Given the description of an element on the screen output the (x, y) to click on. 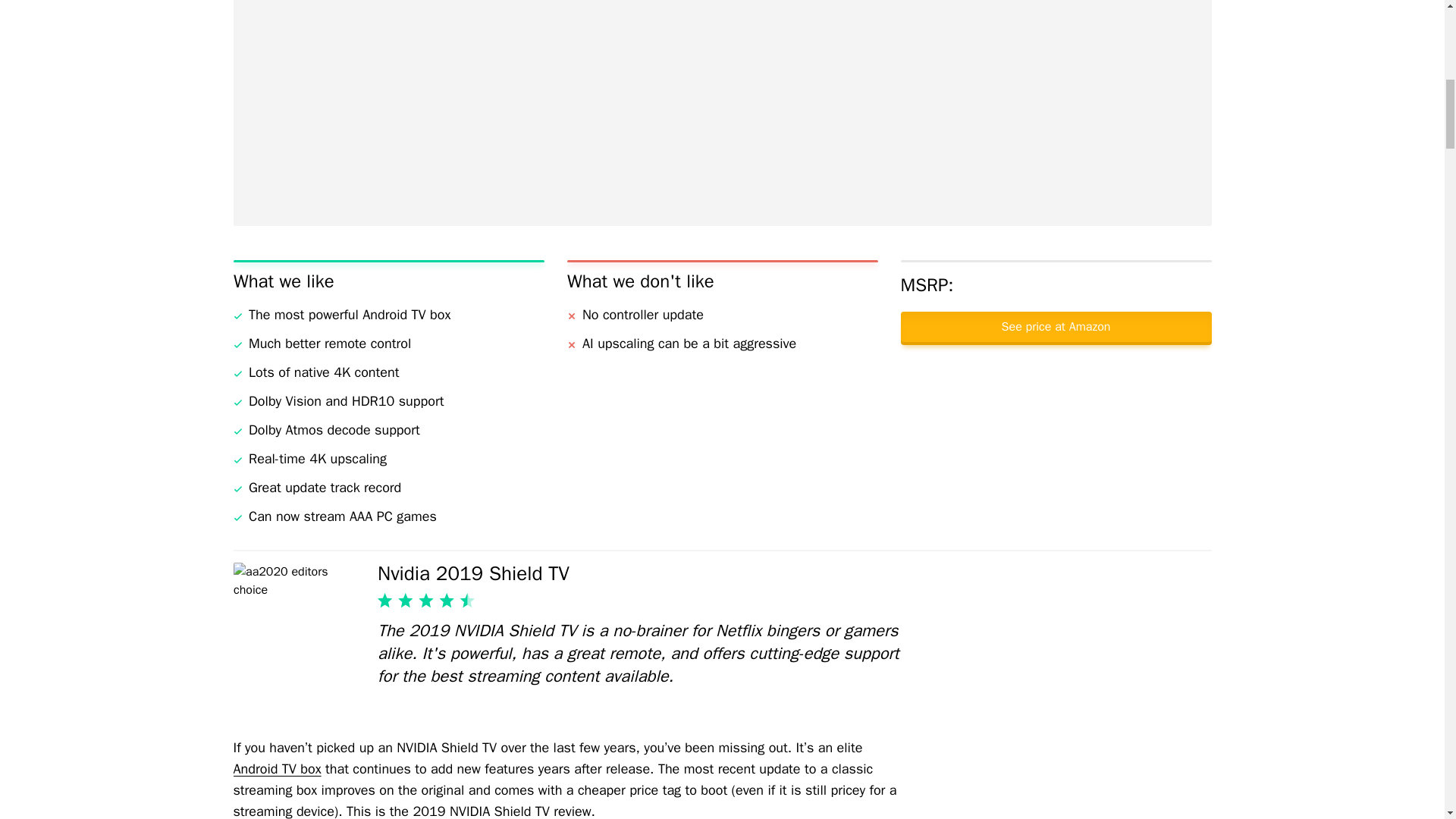
Android TV box (276, 768)
See price at Amazon (1056, 327)
